Given the description of an element on the screen output the (x, y) to click on. 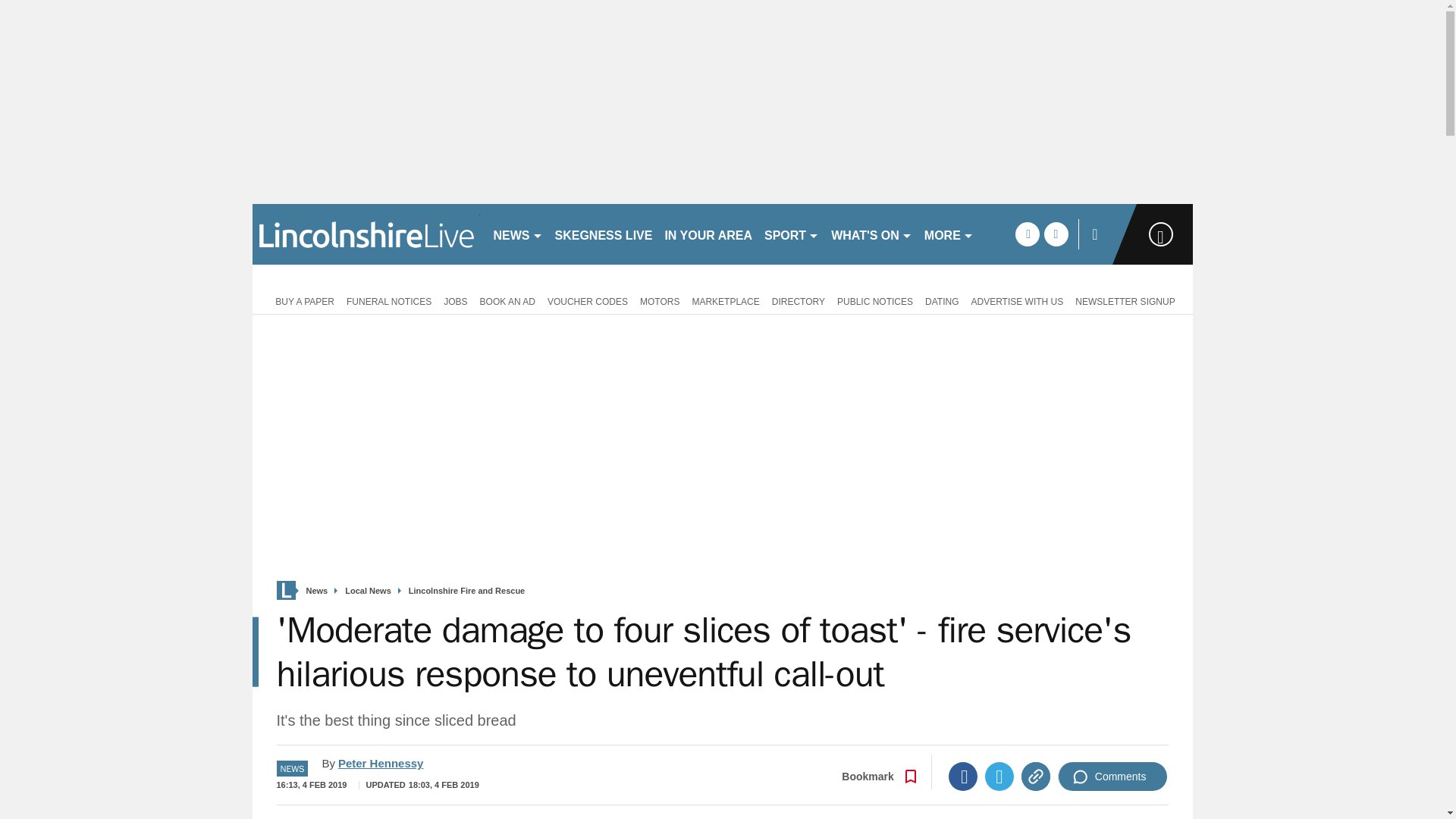
twitter (1055, 233)
Facebook (962, 776)
IN YOUR AREA (708, 233)
SPORT (791, 233)
NEWS (517, 233)
WHAT'S ON (871, 233)
Twitter (999, 776)
Comments (1112, 776)
SKEGNESS LIVE (603, 233)
facebook (1026, 233)
BUY A PAPER (301, 300)
MORE (948, 233)
lincolnshirelive (365, 233)
